Given the description of an element on the screen output the (x, y) to click on. 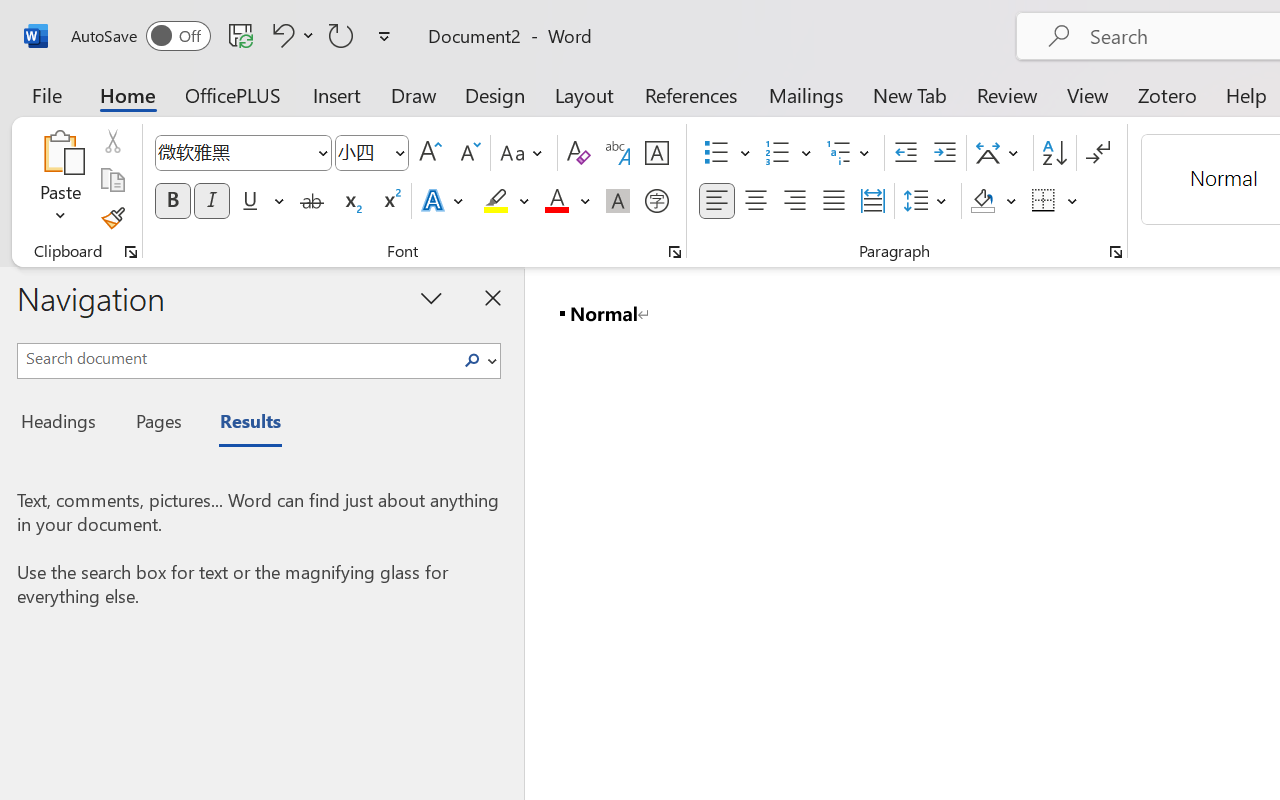
Superscript (390, 201)
References (690, 94)
Task Pane Options (431, 297)
Copy (112, 179)
Subscript (350, 201)
Font Size (362, 152)
Font... (675, 252)
Multilevel List (850, 153)
Save (241, 35)
Line and Paragraph Spacing (927, 201)
